Given the description of an element on the screen output the (x, y) to click on. 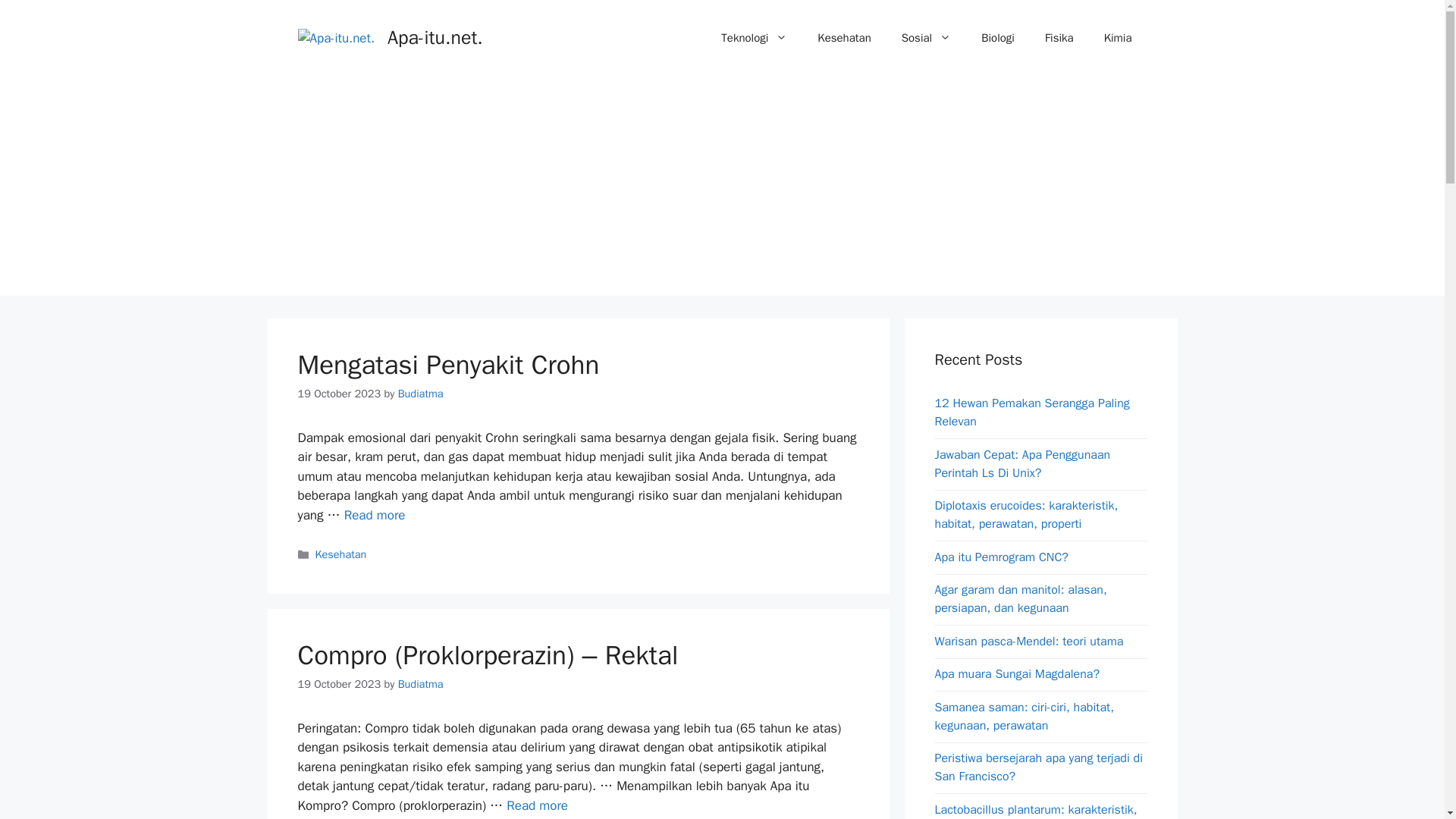
Budiatma (420, 393)
Biologi (997, 37)
View all posts by Budiatma (420, 393)
Mengatasi Penyakit Crohn (447, 364)
Teknologi (754, 37)
Read more (374, 514)
View all posts by Budiatma (420, 684)
Fisika (1059, 37)
Sosial (926, 37)
Apa-itu.net. (435, 37)
Budiatma (420, 684)
Mengatasi Penyakit Crohn (374, 514)
Kesehatan (843, 37)
Kesehatan (340, 554)
